Given the description of an element on the screen output the (x, y) to click on. 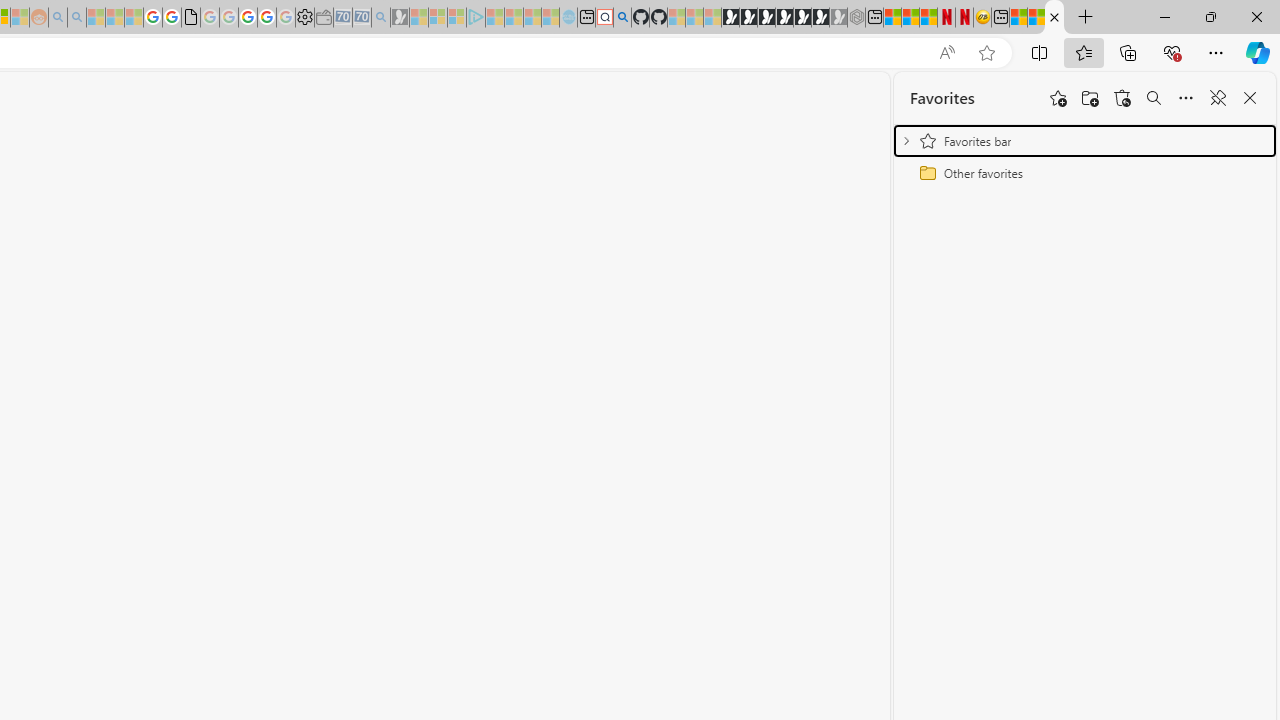
Wildlife - MSN (1017, 17)
